Given the description of an element on the screen output the (x, y) to click on. 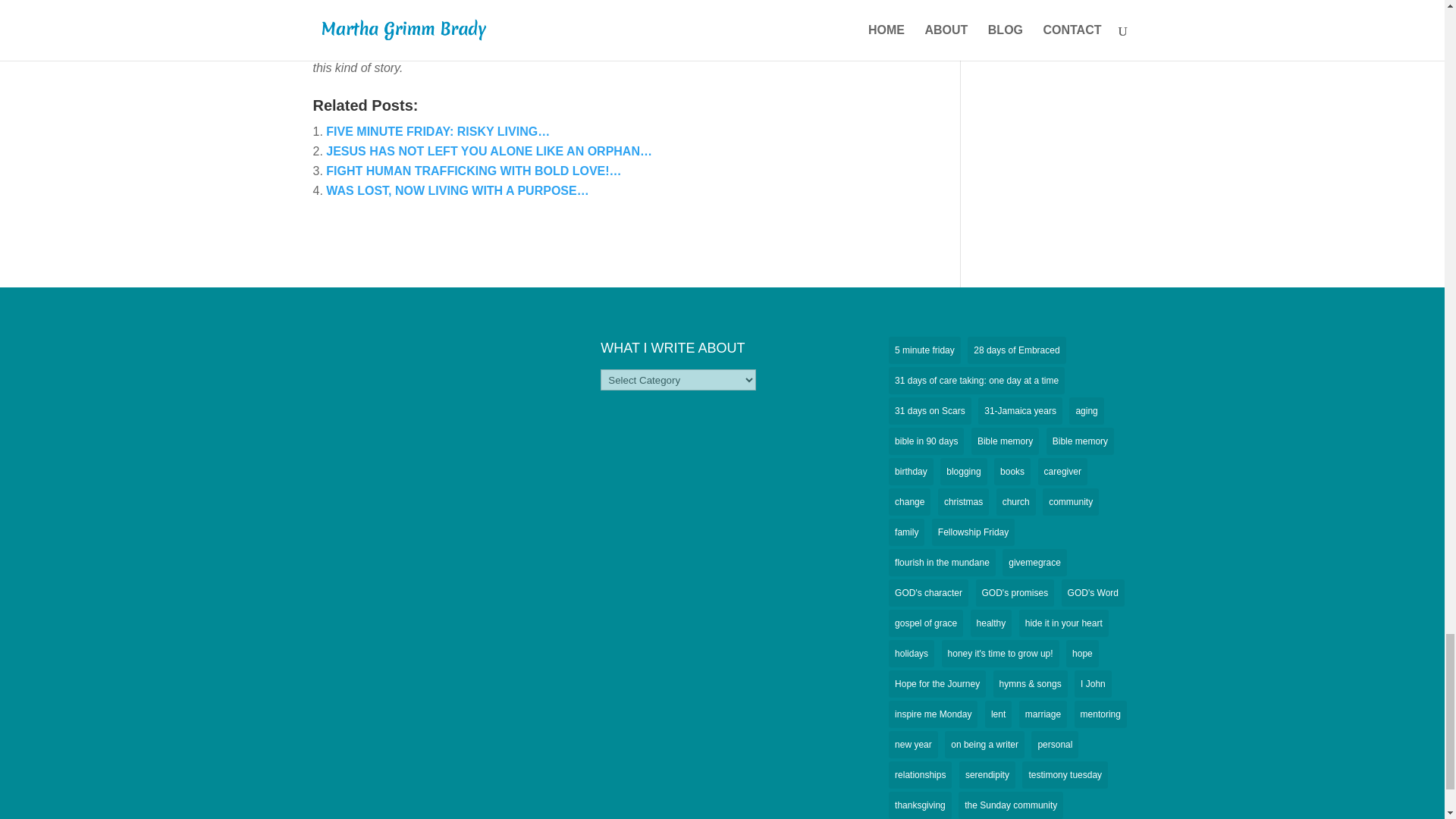
books (1012, 471)
aging (1085, 411)
5 minute friday (924, 349)
blogging (963, 471)
28 days of Embraced (1016, 349)
31 days of care taking: one day at a time (976, 379)
Bible memory (1079, 441)
31-Jamaica years (1020, 411)
bible in 90 days (925, 441)
Bible memory (1005, 441)
birthday (910, 471)
31 days on Scars (929, 411)
caregiver (1062, 471)
